Given the description of an element on the screen output the (x, y) to click on. 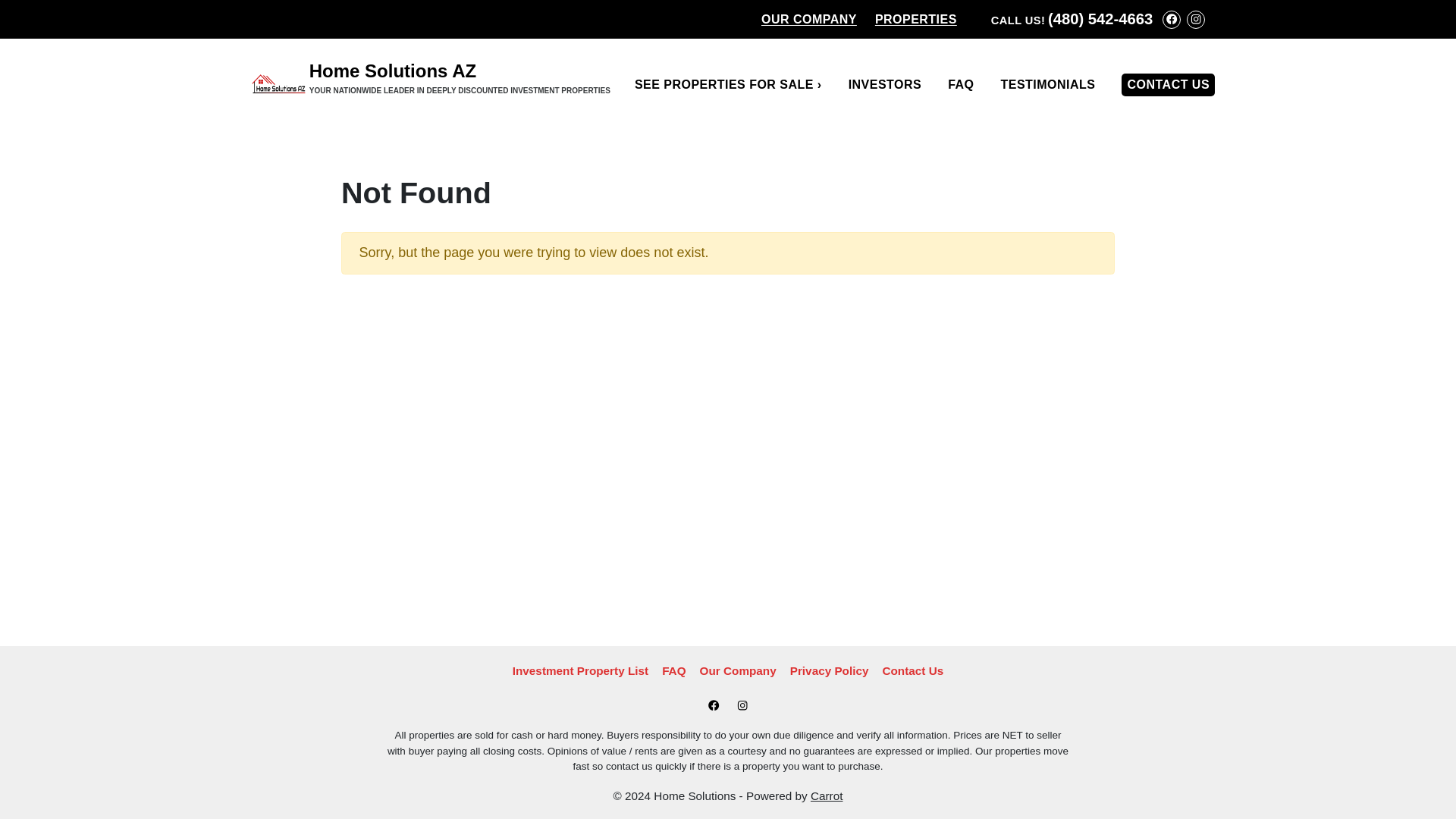
Our Company (738, 671)
Facebook (713, 705)
INVESTORS (884, 84)
CONTACT US (1167, 84)
Carrot (826, 795)
OUR COMPANY (809, 19)
Instagram (742, 705)
Instagram (1195, 19)
Investment Property List (580, 671)
PROPERTIES (915, 19)
FAQ (960, 84)
FAQ (674, 671)
Contact Us (912, 671)
TESTIMONIALS (1047, 84)
